Given the description of an element on the screen output the (x, y) to click on. 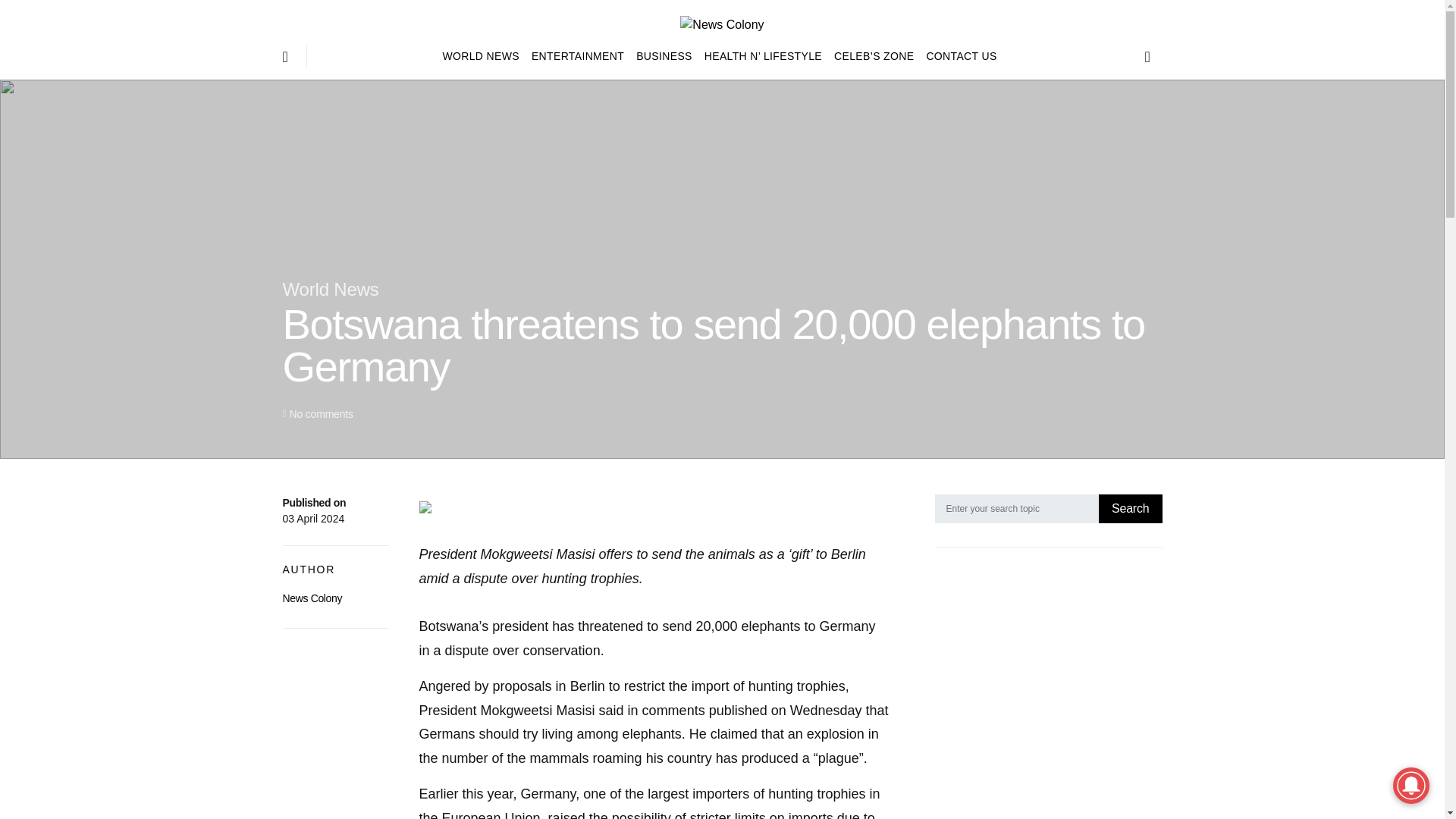
BUSINESS (664, 56)
CONTACT US (957, 56)
ENTERTAINMENT (577, 56)
WORLD NEWS (483, 56)
World News (330, 289)
No comments (320, 414)
News Colony (312, 598)
Advertisement (1047, 696)
